Given the description of an element on the screen output the (x, y) to click on. 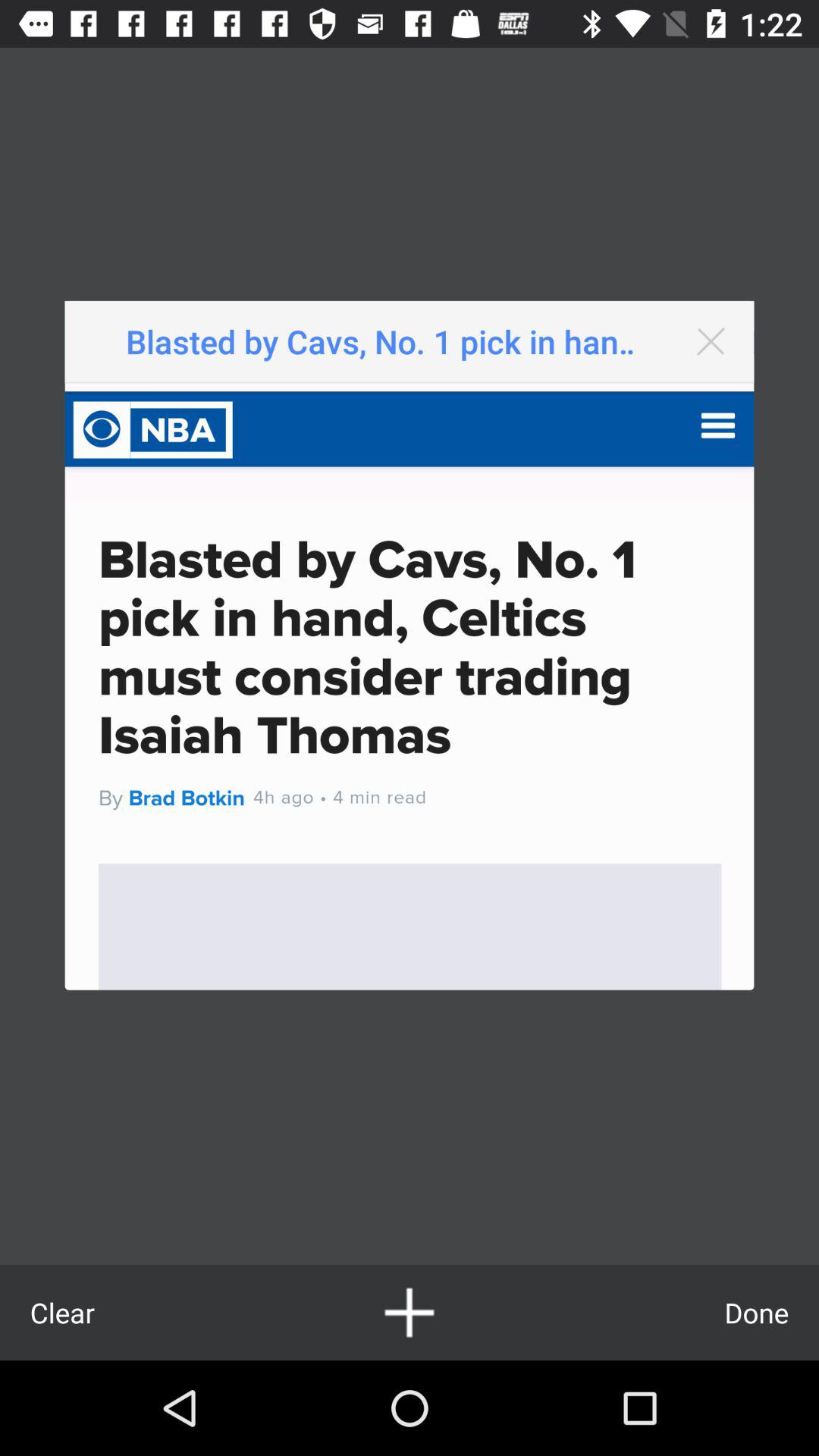
open new page (409, 1312)
